Given the description of an element on the screen output the (x, y) to click on. 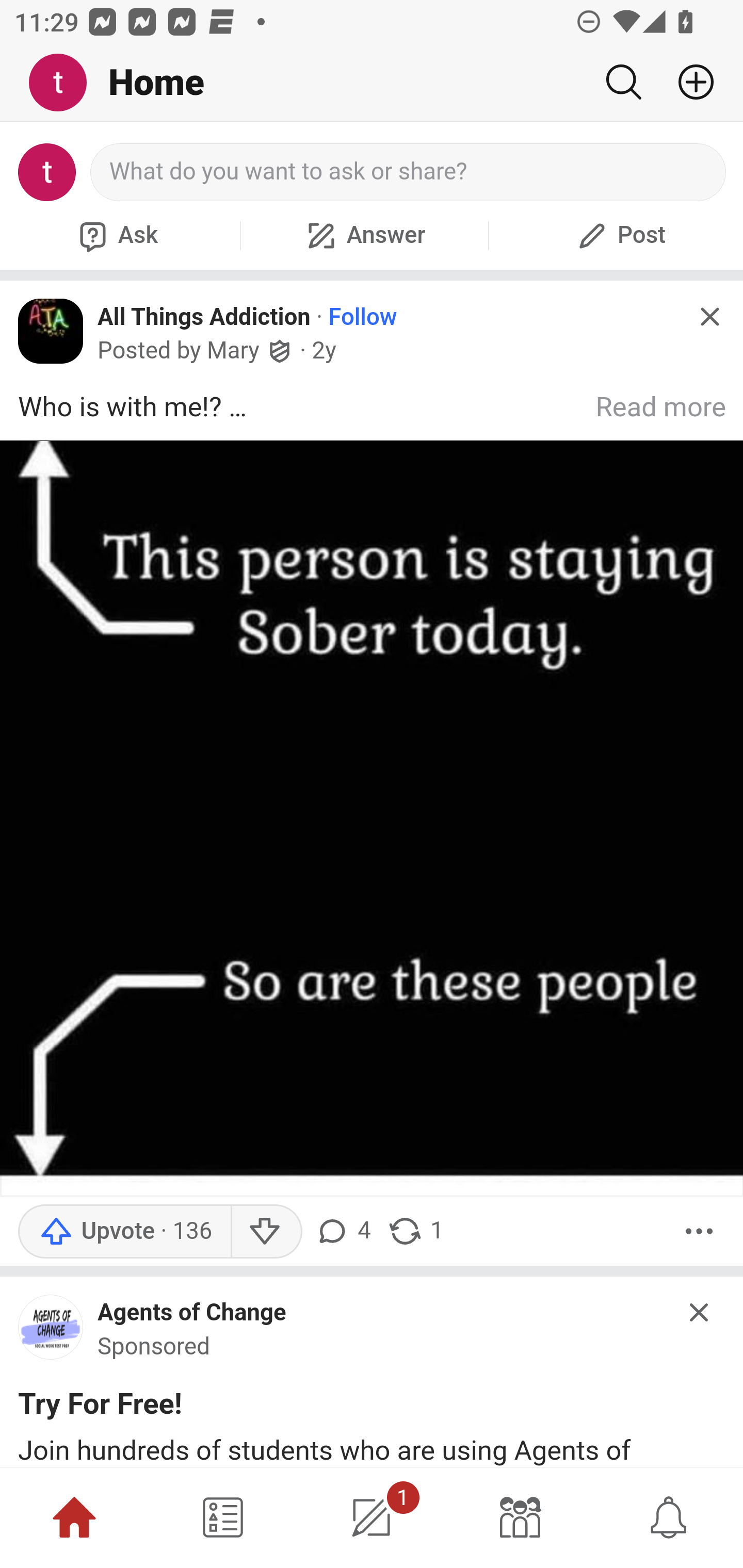
Me (64, 83)
Search (623, 82)
Add (688, 82)
What do you want to ask or share? (408, 172)
Ask (116, 234)
Answer (364, 234)
Post (618, 234)
Hide (709, 316)
Icon for All Things Addiction (50, 330)
All Things Addiction (204, 315)
Follow (362, 316)
Upvote (124, 1230)
Downvote (266, 1230)
4 comments (346, 1230)
1 share (414, 1230)
More (699, 1230)
Hide (699, 1311)
main-qimg-2a5b8cc51d17afce4865580d4bdd4ecf (50, 1331)
Agents of Change (191, 1313)
Try For Free! (99, 1406)
1 (371, 1517)
